Given the description of an element on the screen output the (x, y) to click on. 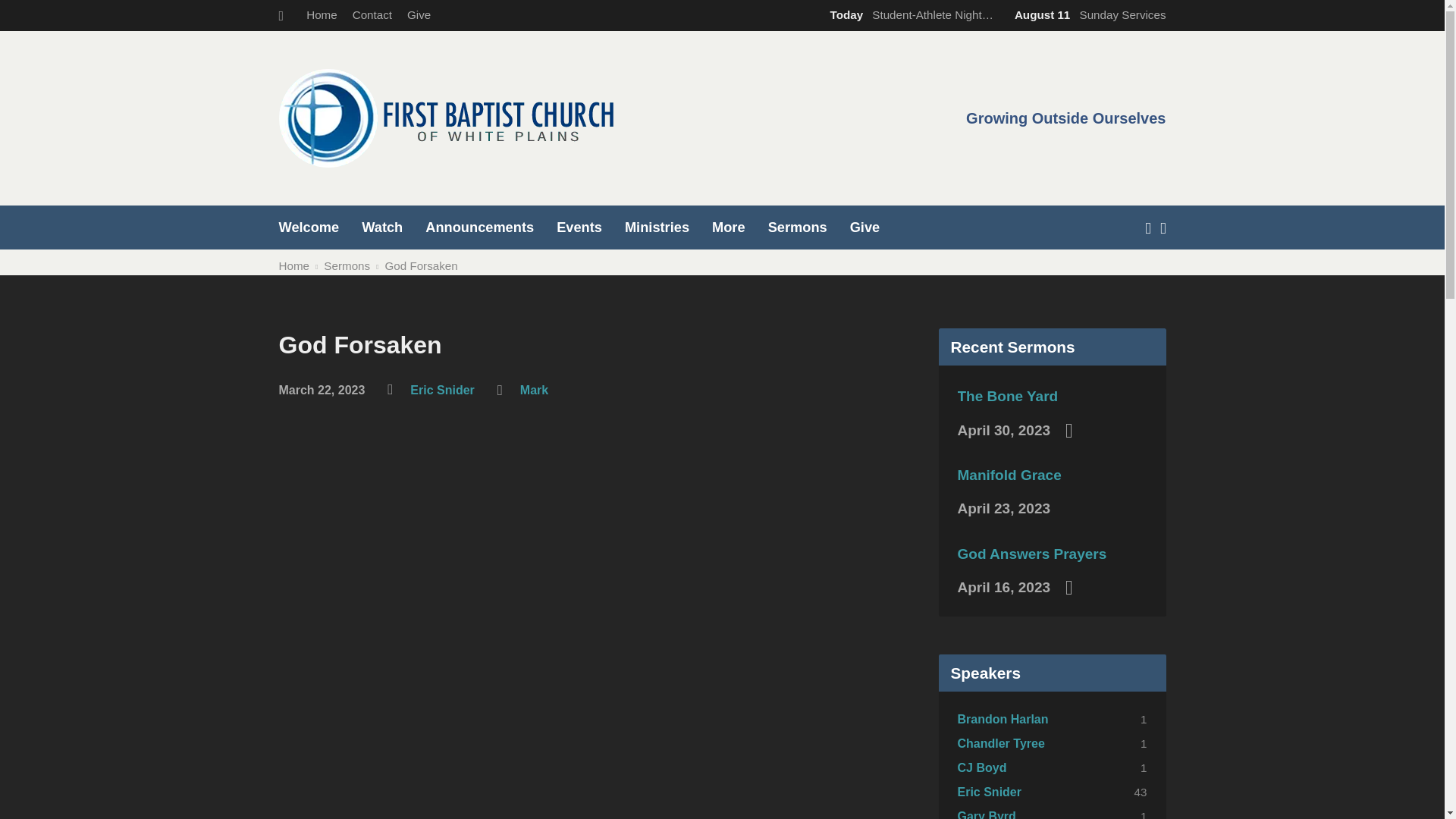
Ministries (656, 227)
Announcements (479, 227)
Watch (382, 227)
Student-Athlete Night with Jarman Leatherwood (908, 14)
Events (579, 227)
Home (321, 14)
Sunday Services (1087, 14)
Give (418, 14)
Manifold Grace (1008, 474)
Welcome (309, 227)
August 11 Sunday Services (1087, 14)
God Answers Prayers (1031, 553)
Contact (371, 14)
More (728, 227)
